Given the description of an element on the screen output the (x, y) to click on. 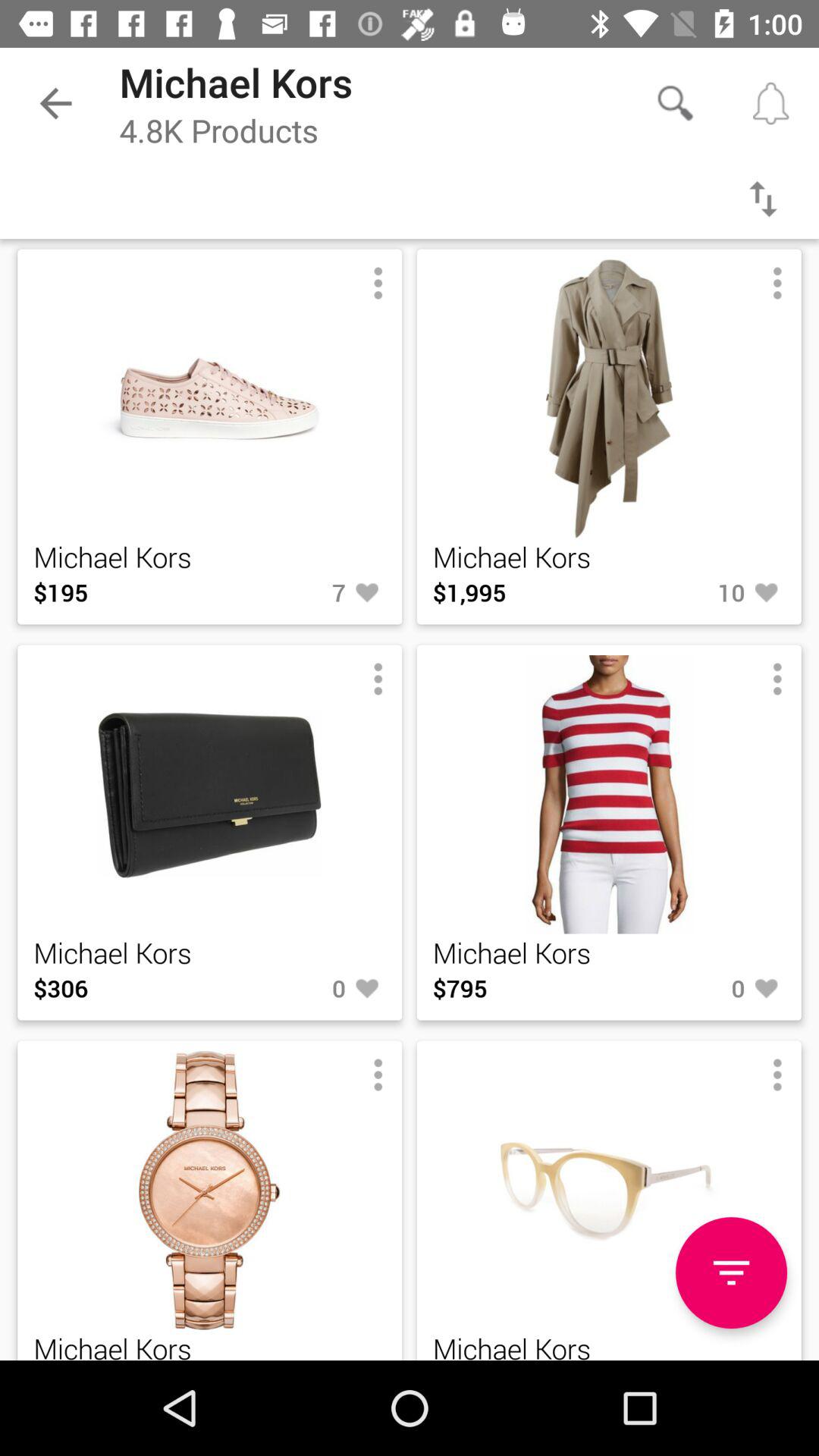
go back (763, 198)
